Given the description of an element on the screen output the (x, y) to click on. 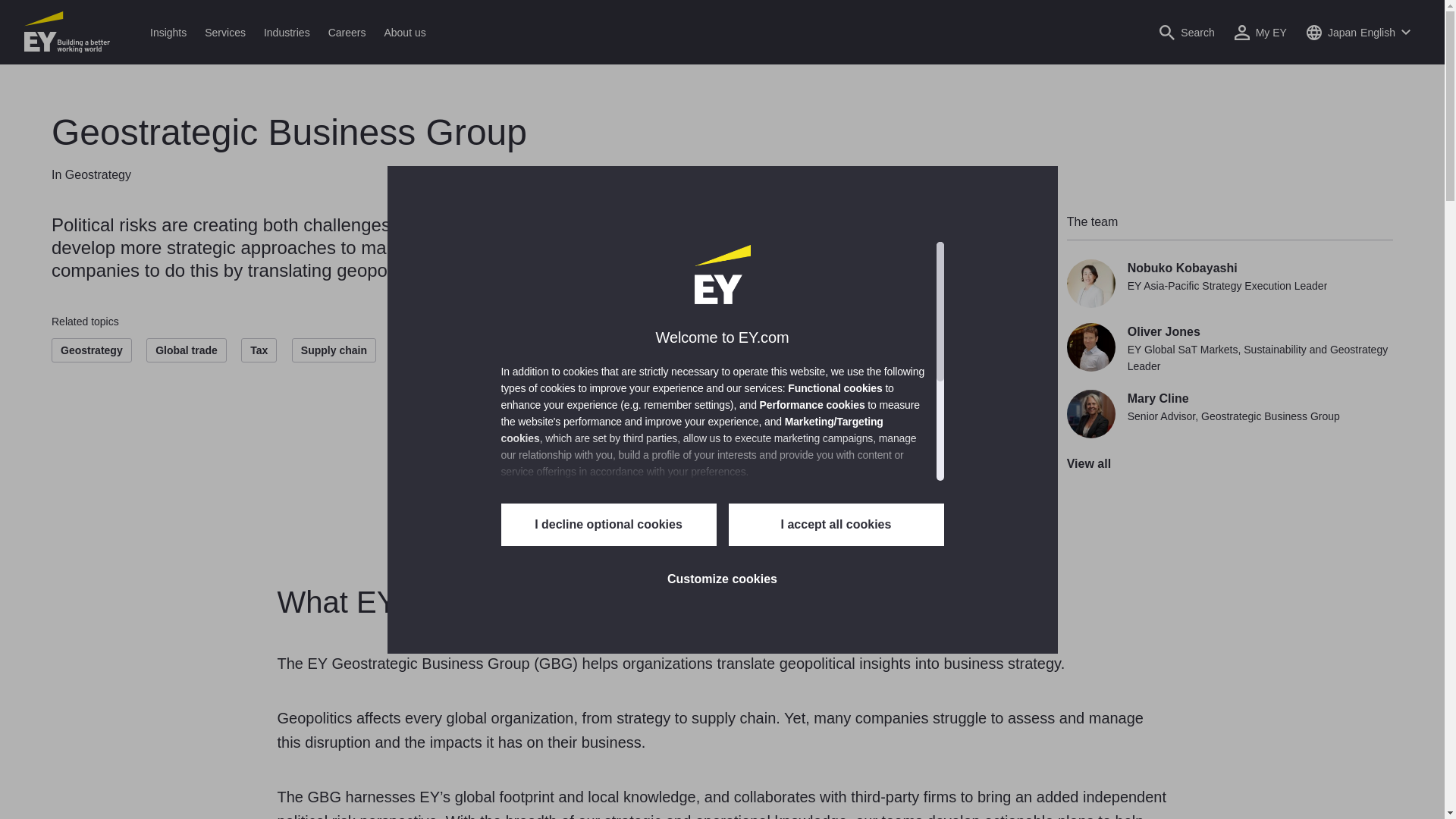
My EY (1260, 32)
Open search (1186, 32)
Open country language switcher (1358, 32)
EY Homepage (67, 32)
